Given the description of an element on the screen output the (x, y) to click on. 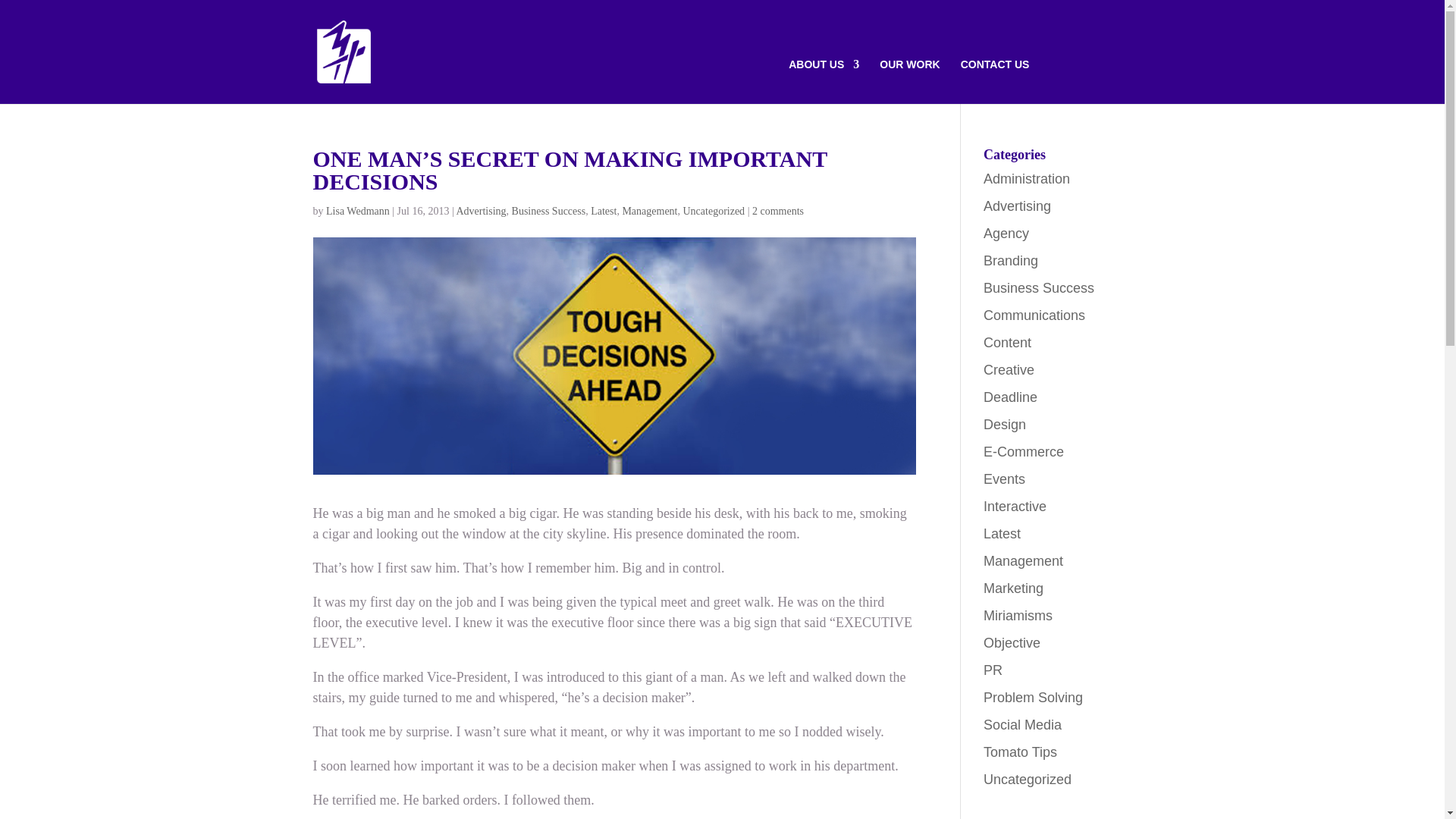
Design Element type: text (1004, 424)
Lisa Wedmann Element type: text (357, 210)
Social Media Element type: text (1022, 725)
Deadline Element type: text (1010, 397)
Tomato Tips Element type: text (1020, 752)
Communications Element type: text (1034, 315)
Advertising Element type: text (480, 210)
Administration Element type: text (1026, 179)
E-Commerce Element type: text (1023, 452)
Agency Element type: text (1006, 233)
Miriamisms Element type: text (1017, 615)
PR Element type: text (992, 670)
Creative Element type: text (1008, 370)
Events Element type: text (1004, 479)
Management Element type: text (1023, 561)
Business Success Element type: text (548, 210)
Uncategorized Element type: text (1027, 779)
Advertising Element type: text (1017, 206)
Management Element type: text (649, 210)
Marketing Element type: text (1013, 588)
Branding Element type: text (1010, 261)
ABOUT US Element type: text (823, 81)
2 comments Element type: text (777, 210)
Objective Element type: text (1011, 643)
Content Element type: text (1007, 342)
Problem Solving Element type: text (1032, 697)
Uncategorized Element type: text (713, 210)
Interactive Element type: text (1014, 506)
Business Success Element type: text (1038, 288)
Latest Element type: text (603, 210)
Latest Element type: text (1001, 534)
CONTACT US Element type: text (994, 81)
OUR WORK Element type: text (909, 81)
